Given the description of an element on the screen output the (x, y) to click on. 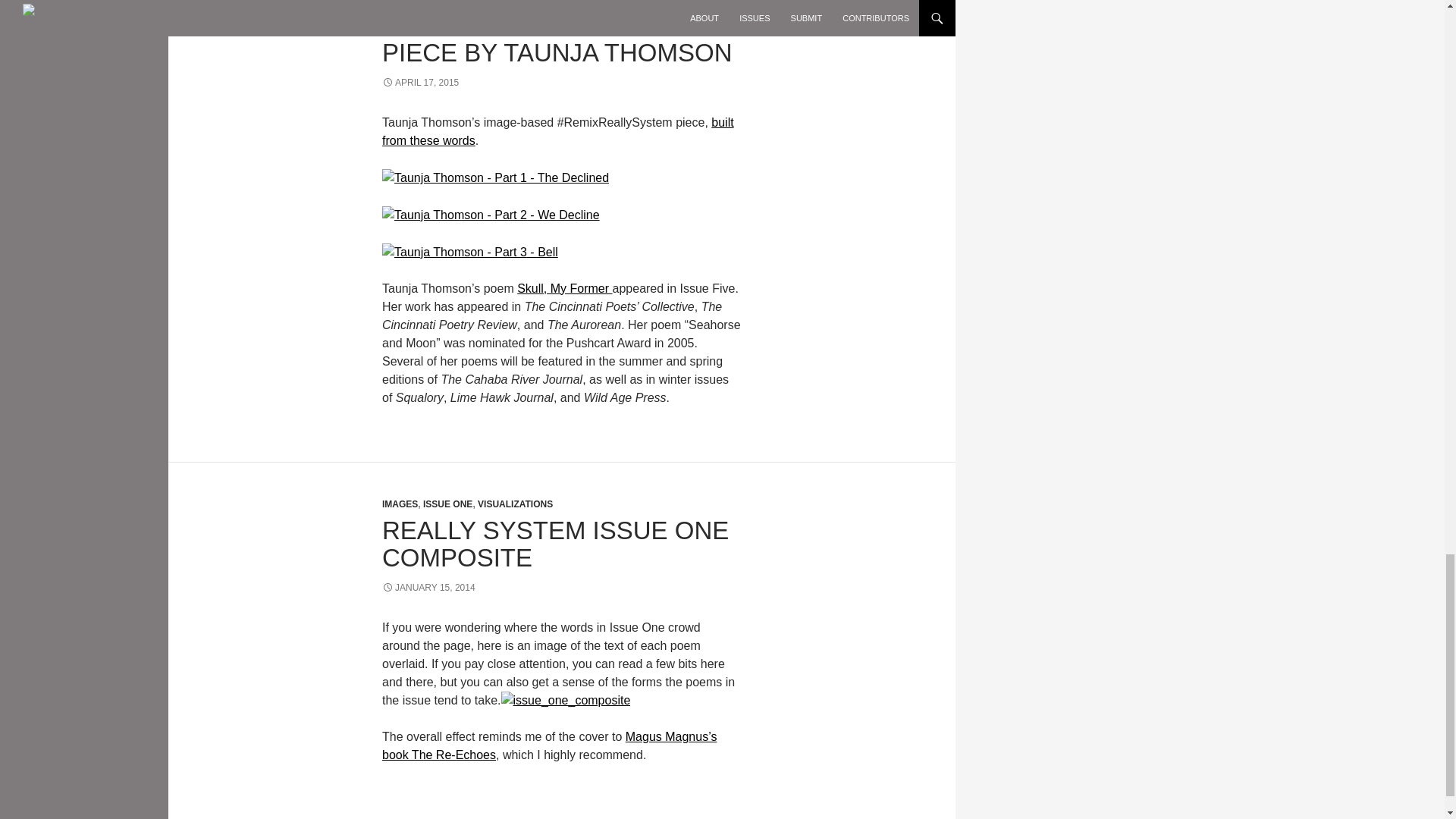
APRIL 17, 2015 (419, 81)
TEXT FILES (407, 2)
built from these words (557, 131)
